Given the description of an element on the screen output the (x, y) to click on. 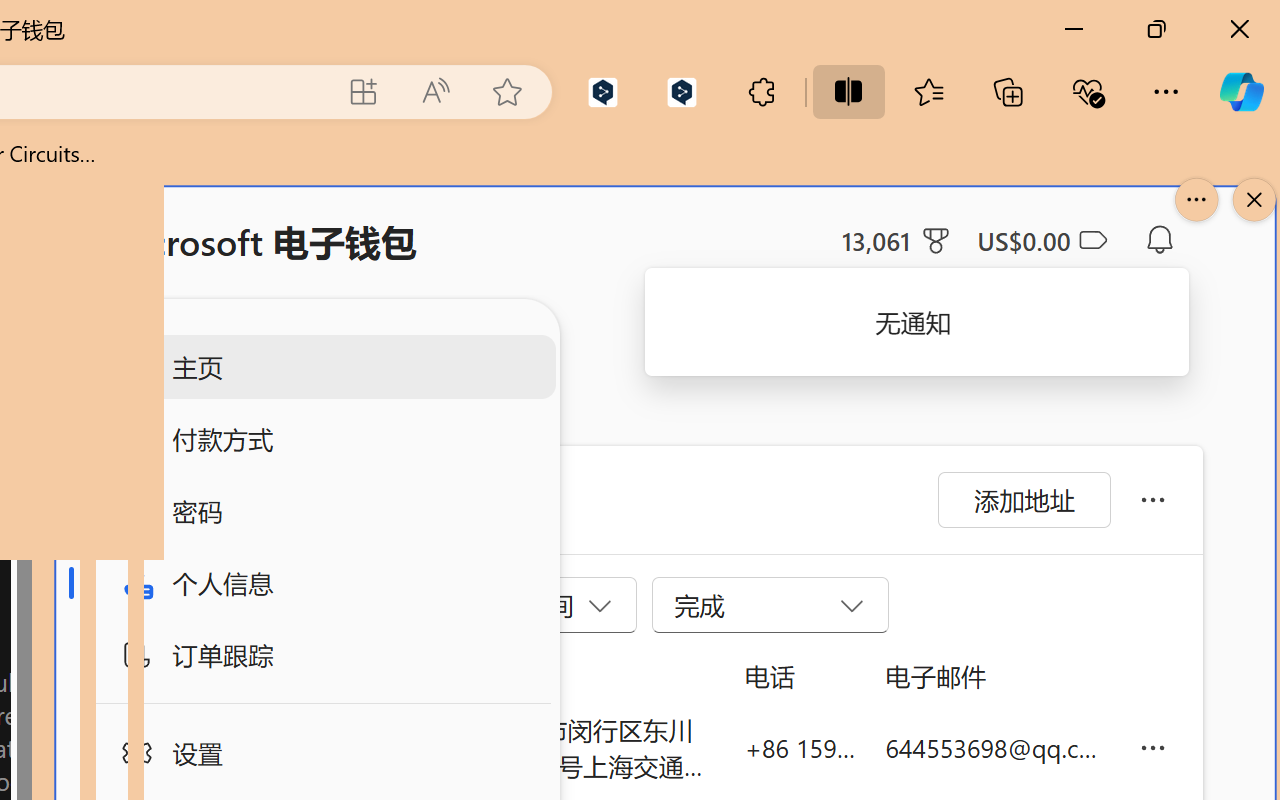
Copilot (Ctrl+Shift+.) (1241, 91)
